Given the description of an element on the screen output the (x, y) to click on. 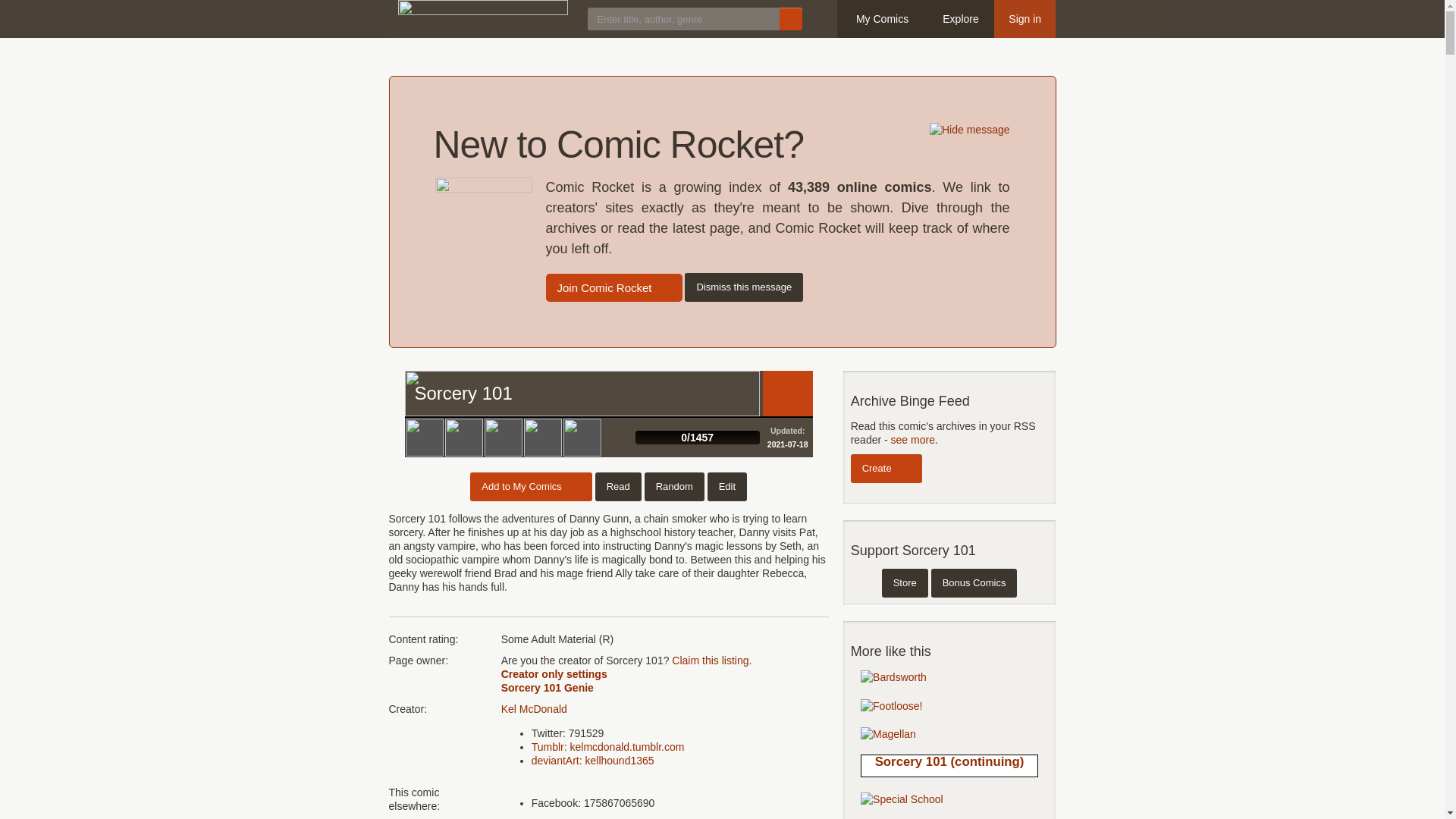
Read (787, 393)
Special School (901, 798)
Kel McDonald (533, 708)
sarah (502, 436)
BullCityFats (424, 436)
Edit (726, 486)
Random (674, 486)
Add to My Comics (530, 486)
Sign in (1024, 18)
Read (618, 486)
